Given the description of an element on the screen output the (x, y) to click on. 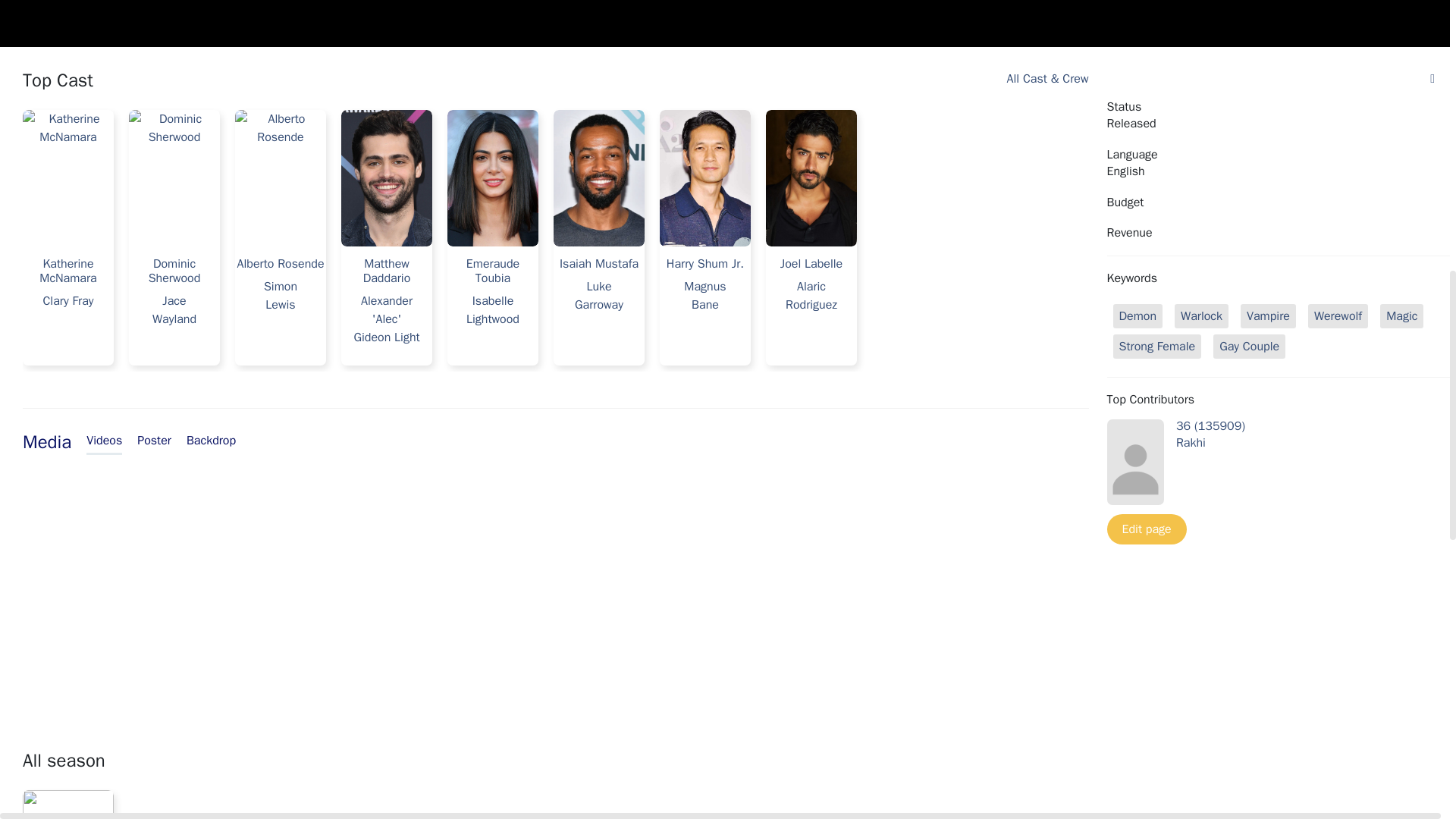
Backdrop (210, 441)
Poster (153, 441)
Videos (103, 443)
YouTube video player (234, 581)
